Given the description of an element on the screen output the (x, y) to click on. 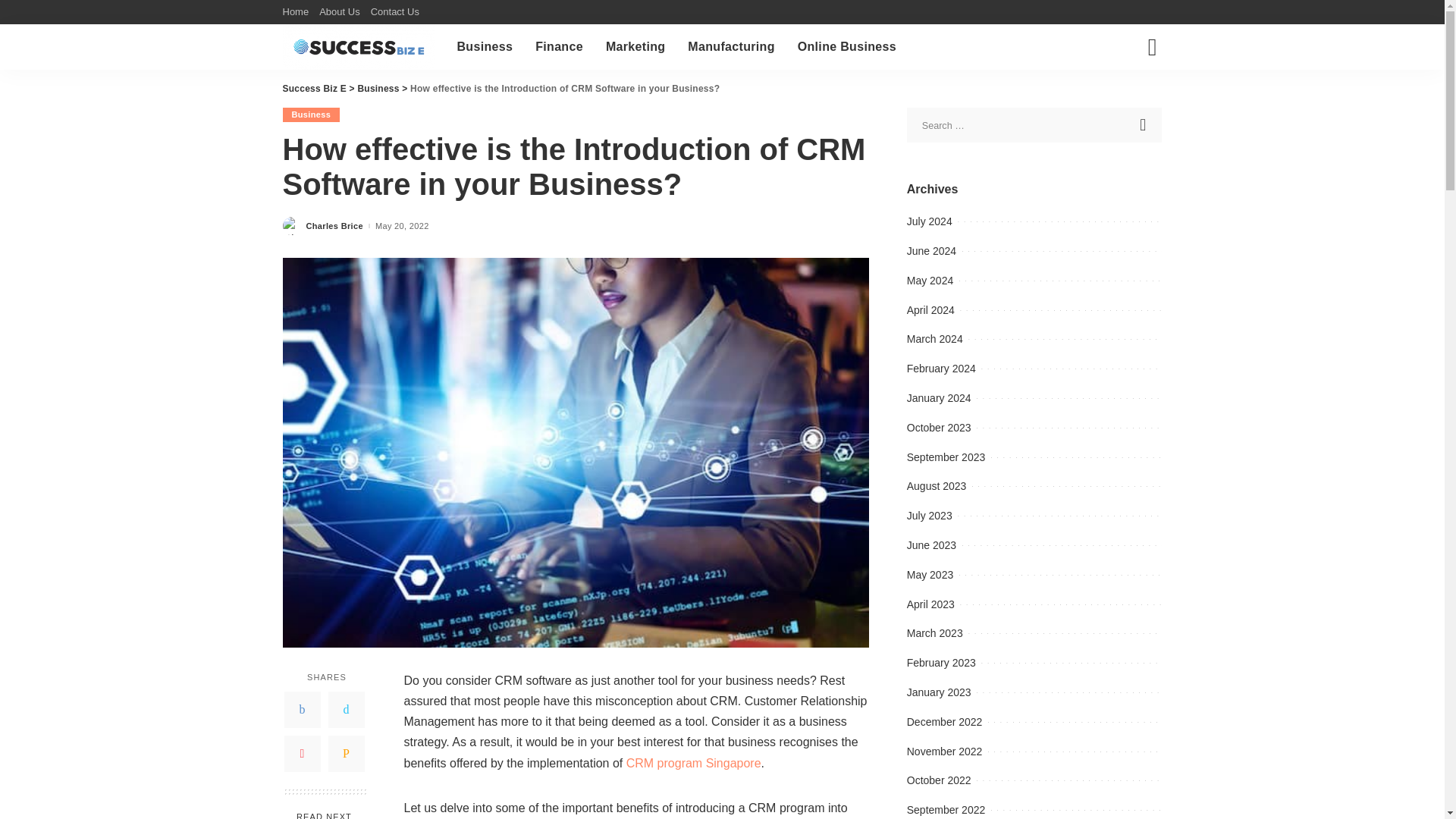
Success Biz E (314, 88)
Success Biz E (357, 46)
Search (1140, 100)
Email (345, 753)
Contact Us (395, 12)
Business (310, 114)
Marketing (635, 46)
Go to the Business Category archives. (377, 88)
Home (298, 12)
Business (377, 88)
Go to Success Biz E. (314, 88)
Twitter (345, 709)
About Us (339, 12)
Pinterest (301, 753)
Online Business (846, 46)
